Given the description of an element on the screen output the (x, y) to click on. 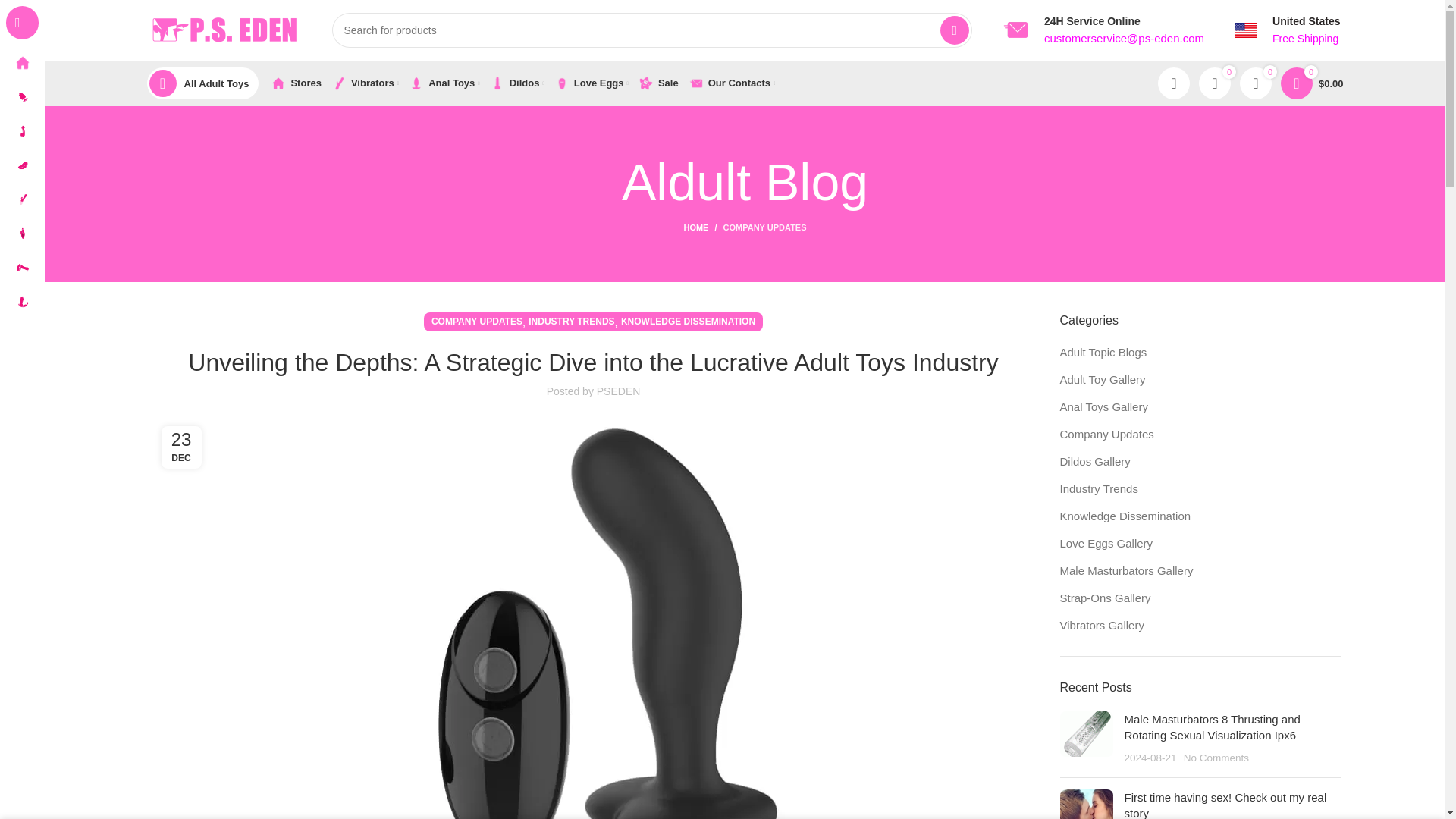
First time having sex! Check out my real story (1086, 804)
My account (1173, 82)
Permalink to First time having sex! Check out my real story (1225, 805)
Compare products (1213, 82)
Shopping cart (1312, 82)
Search for products (651, 30)
pseden (1016, 29)
My Wishlist (1255, 82)
